Given the description of an element on the screen output the (x, y) to click on. 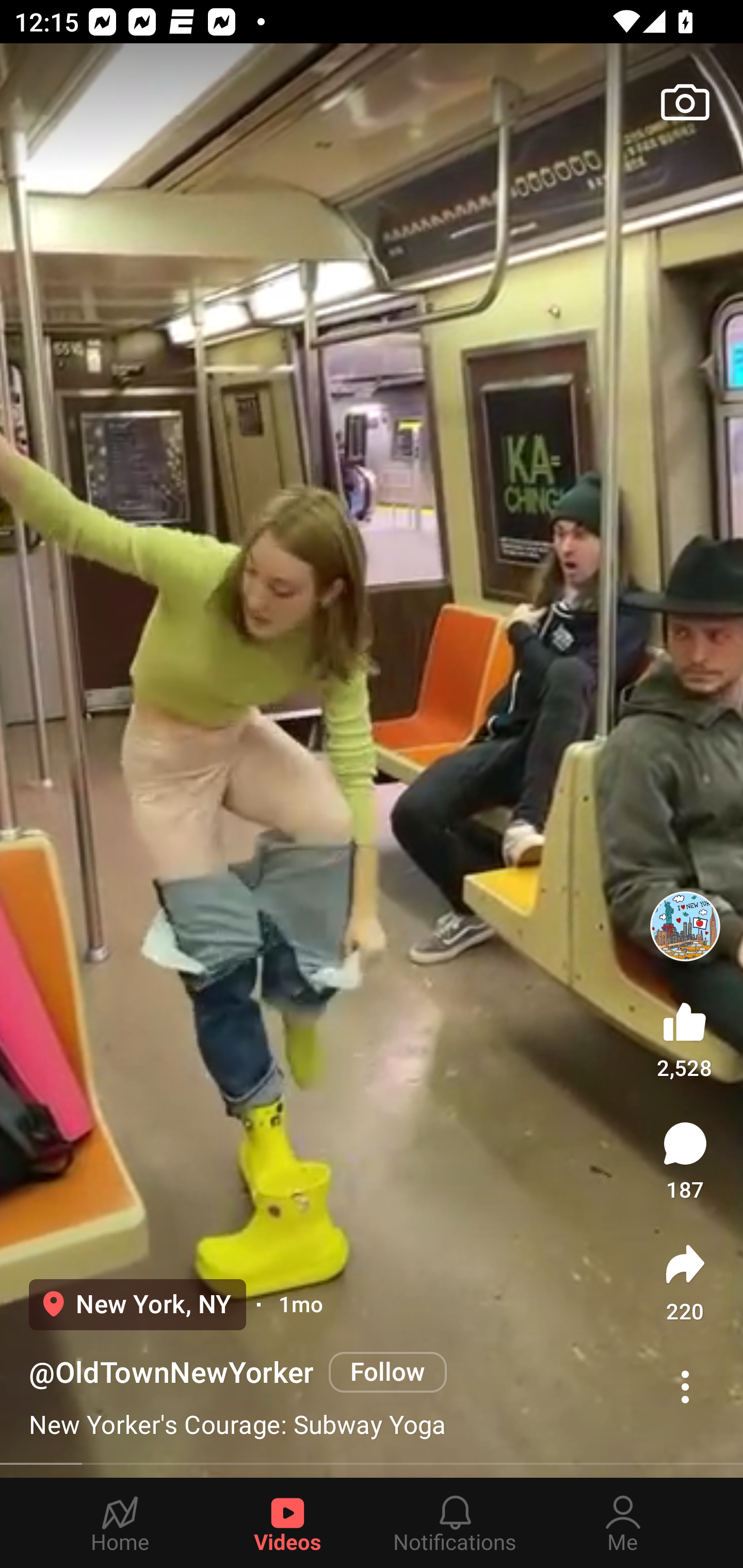
2,528 (684, 1035)
187 (684, 1160)
220 (684, 1282)
New York, NY (136, 1304)
Follow (387, 1371)
@OldTownNewYorker (171, 1373)
Home (119, 1522)
Notifications (455, 1522)
Me (622, 1522)
